Given the description of an element on the screen output the (x, y) to click on. 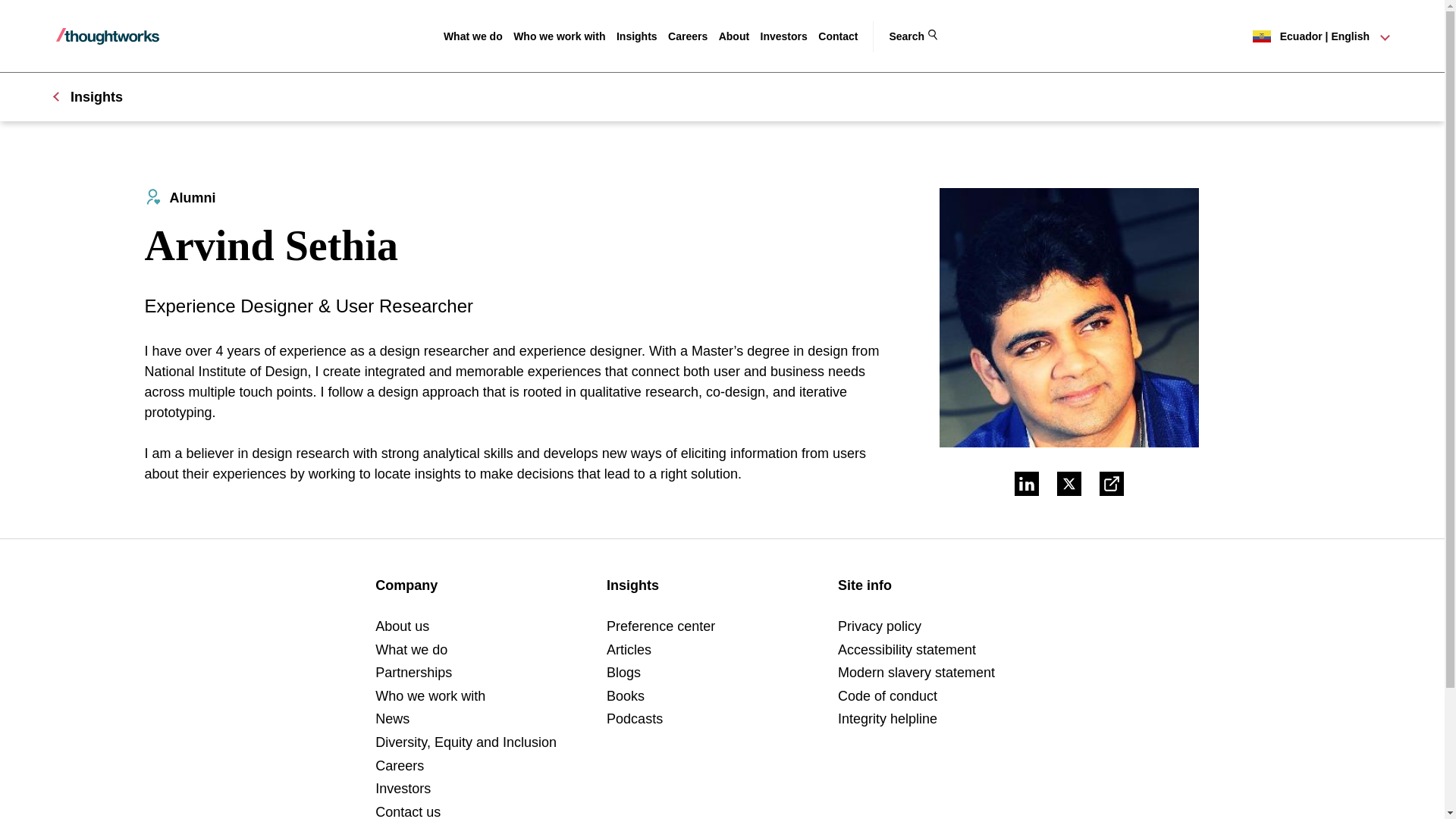
Who we work with (559, 36)
What we do (473, 36)
Who we work with (559, 36)
What we do (473, 36)
Careers (687, 36)
Thoughtworks (107, 36)
Thoughtworks (107, 36)
Insights (636, 36)
Insights (636, 36)
